Given the description of an element on the screen output the (x, y) to click on. 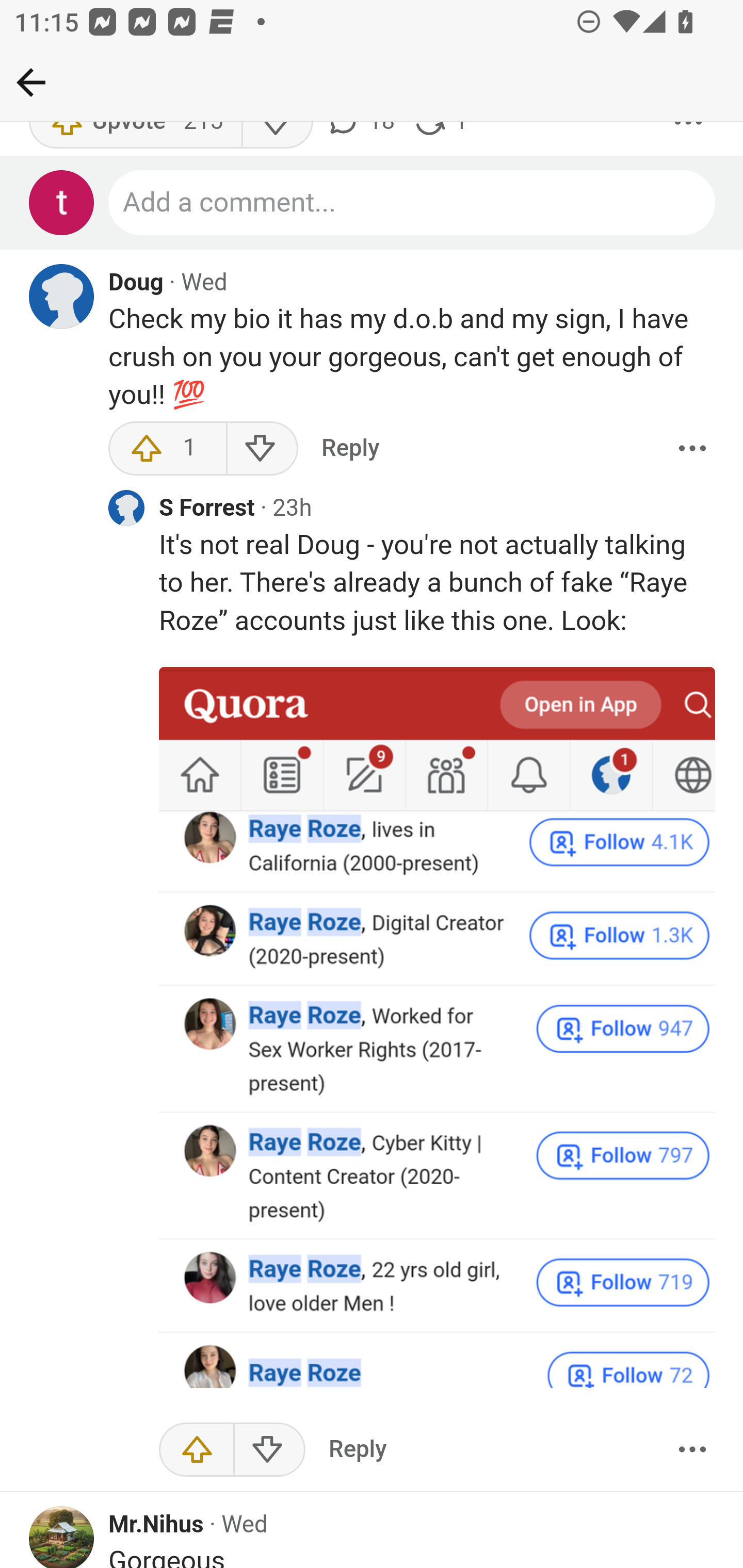
Back (30, 82)
Profile photo for Test Appium (61, 204)
Add a comment... (412, 204)
Profile photo for Doug (61, 297)
Doug (136, 284)
1 upvote (167, 448)
Downvote (261, 448)
Reply (350, 448)
More (691, 448)
Profile photo for S Forrest (126, 508)
S Forrest (207, 510)
23h 23 h (291, 509)
main-qimg-0530b6167fb11ecca770947b68254faf (437, 1028)
Upvote (196, 1450)
Downvote (268, 1450)
Reply (357, 1450)
More (691, 1450)
Profile photo for Mr.Nihus (61, 1537)
Mr.Nihus (155, 1526)
